Given the description of an element on the screen output the (x, y) to click on. 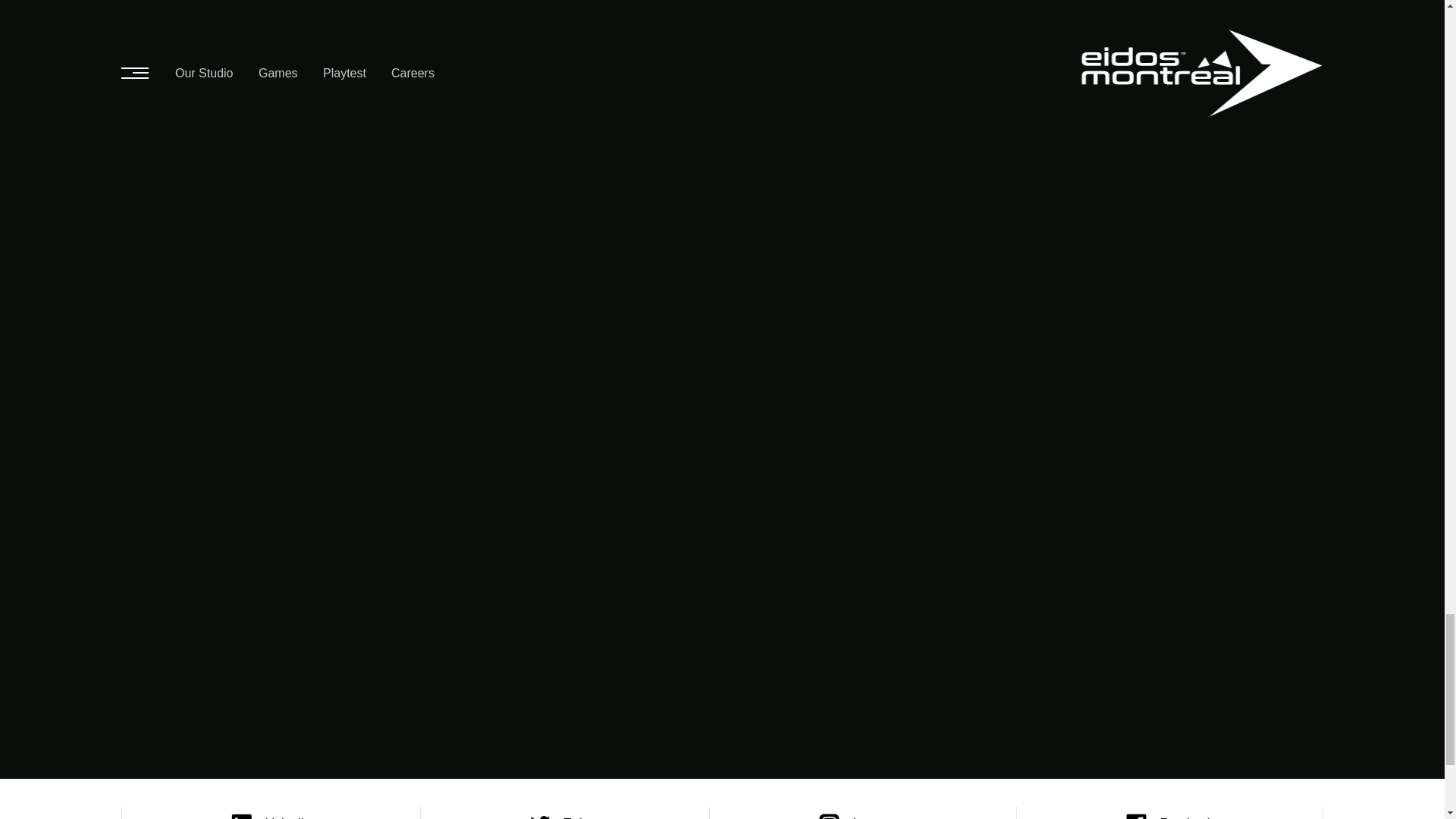
Facebook (1169, 812)
LinkedIn (271, 812)
Instagram (862, 812)
Twitter (564, 812)
